Given the description of an element on the screen output the (x, y) to click on. 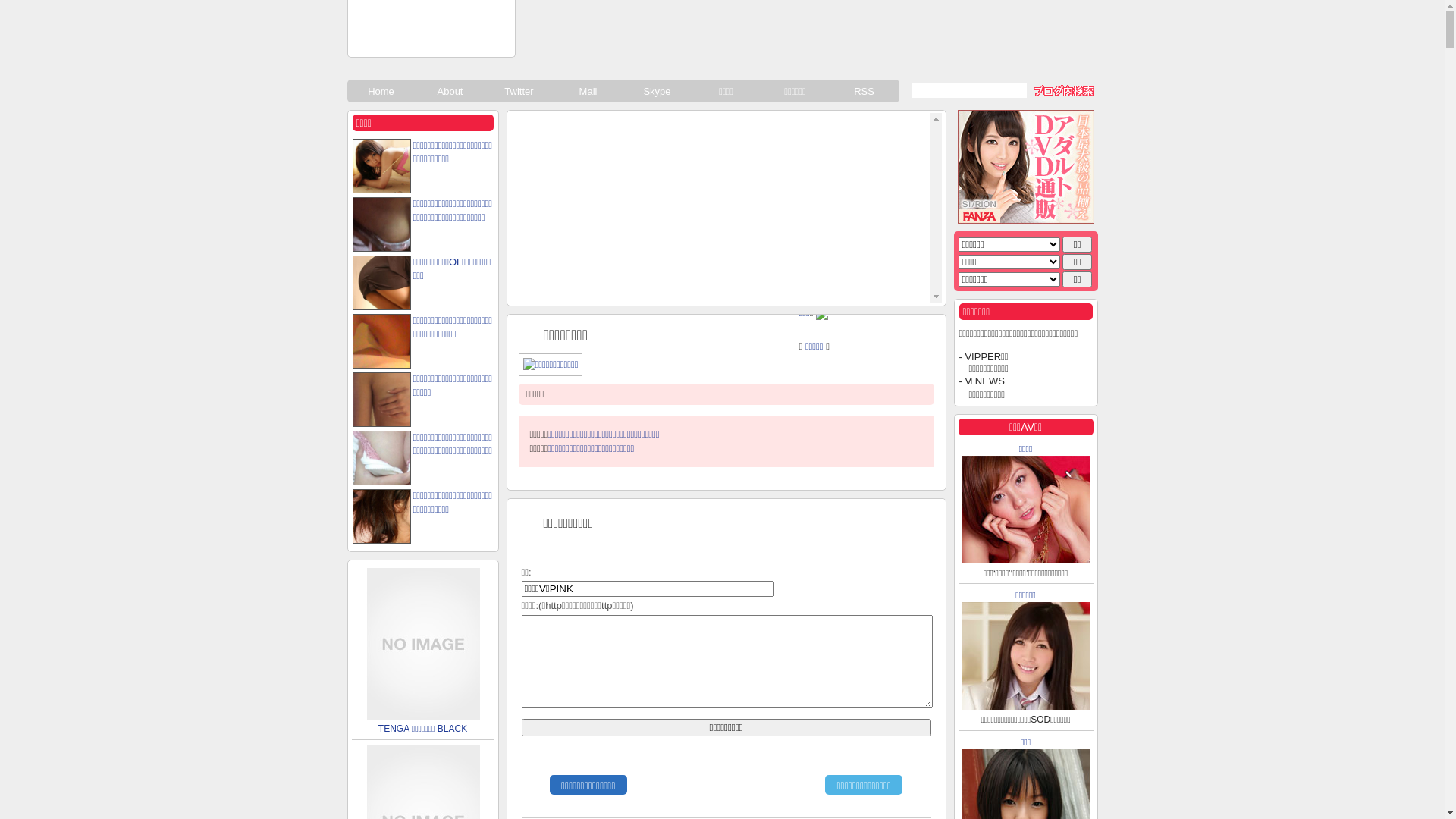
RSS Element type: text (863, 90)
Skype Element type: text (657, 90)
Mail Element type: text (587, 90)
Home Element type: text (381, 90)
About Element type: text (449, 90)
Twitter Element type: text (519, 90)
